Given the description of an element on the screen output the (x, y) to click on. 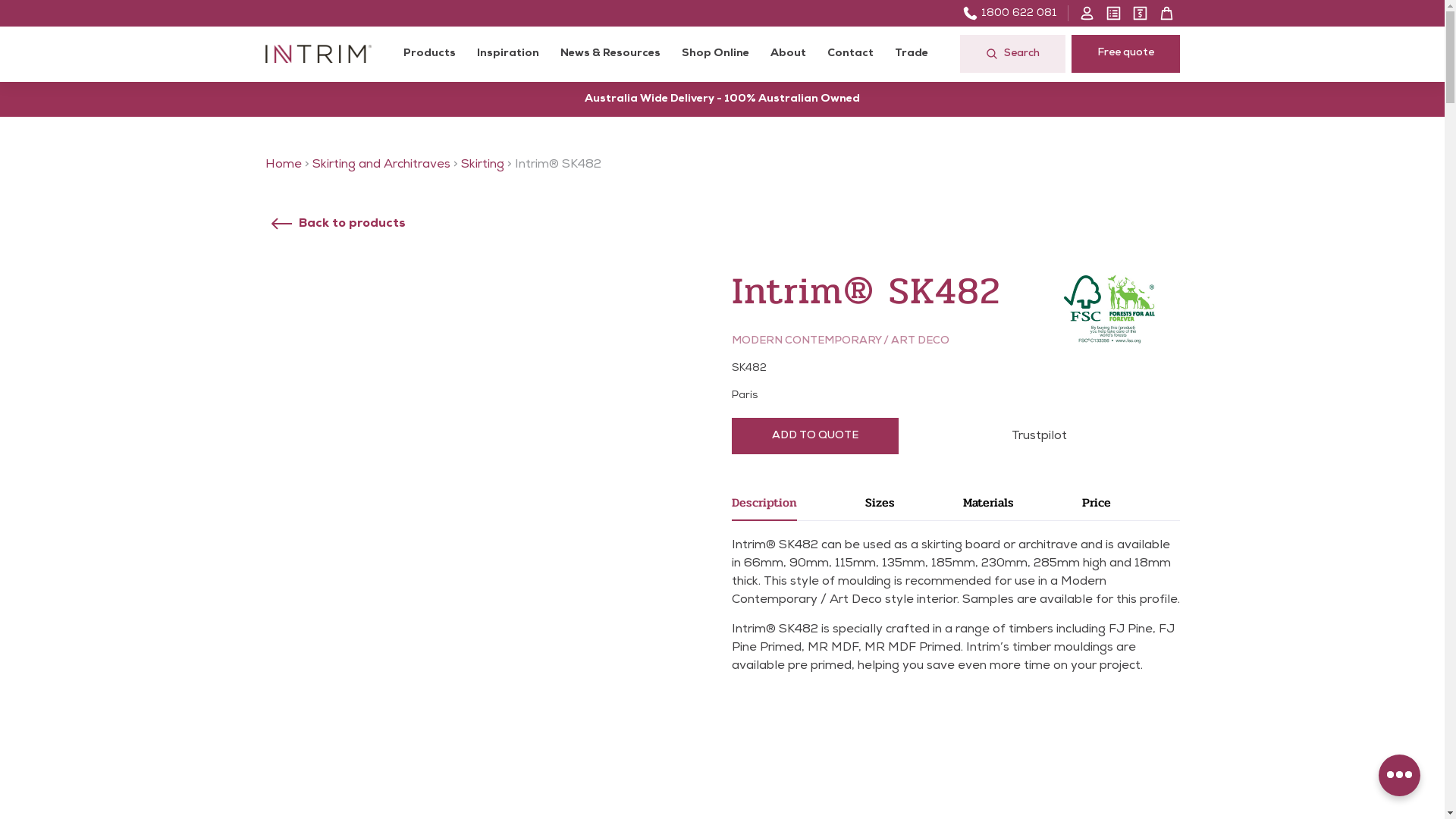
Back to products Element type: text (336, 223)
Account Element type: hover (1086, 13)
Skirting and Architraves Element type: text (381, 164)
Products Element type: text (429, 53)
News & Resources Element type: text (609, 53)
Description Element type: text (797, 506)
1800 622 081 Element type: text (1009, 13)
Materials Element type: text (1022, 506)
Sizes Element type: text (914, 506)
About Element type: text (787, 53)
Skirting Element type: text (482, 164)
Price Element type: text (1130, 506)
ADD TO QUOTE Element type: text (814, 435)
Search Element type: text (1012, 53)
Cart Element type: hover (1165, 13)
Trade Element type: text (911, 53)
Home Element type: text (283, 164)
Contact Element type: text (849, 53)
Quote Request Element type: hover (1139, 13)
Shop Online Element type: text (714, 53)
Trustpilot Element type: text (1038, 435)
Spec Sheet Element type: hover (1112, 13)
Free quote Element type: text (1124, 53)
Inspiration Element type: text (507, 53)
